Given the description of an element on the screen output the (x, y) to click on. 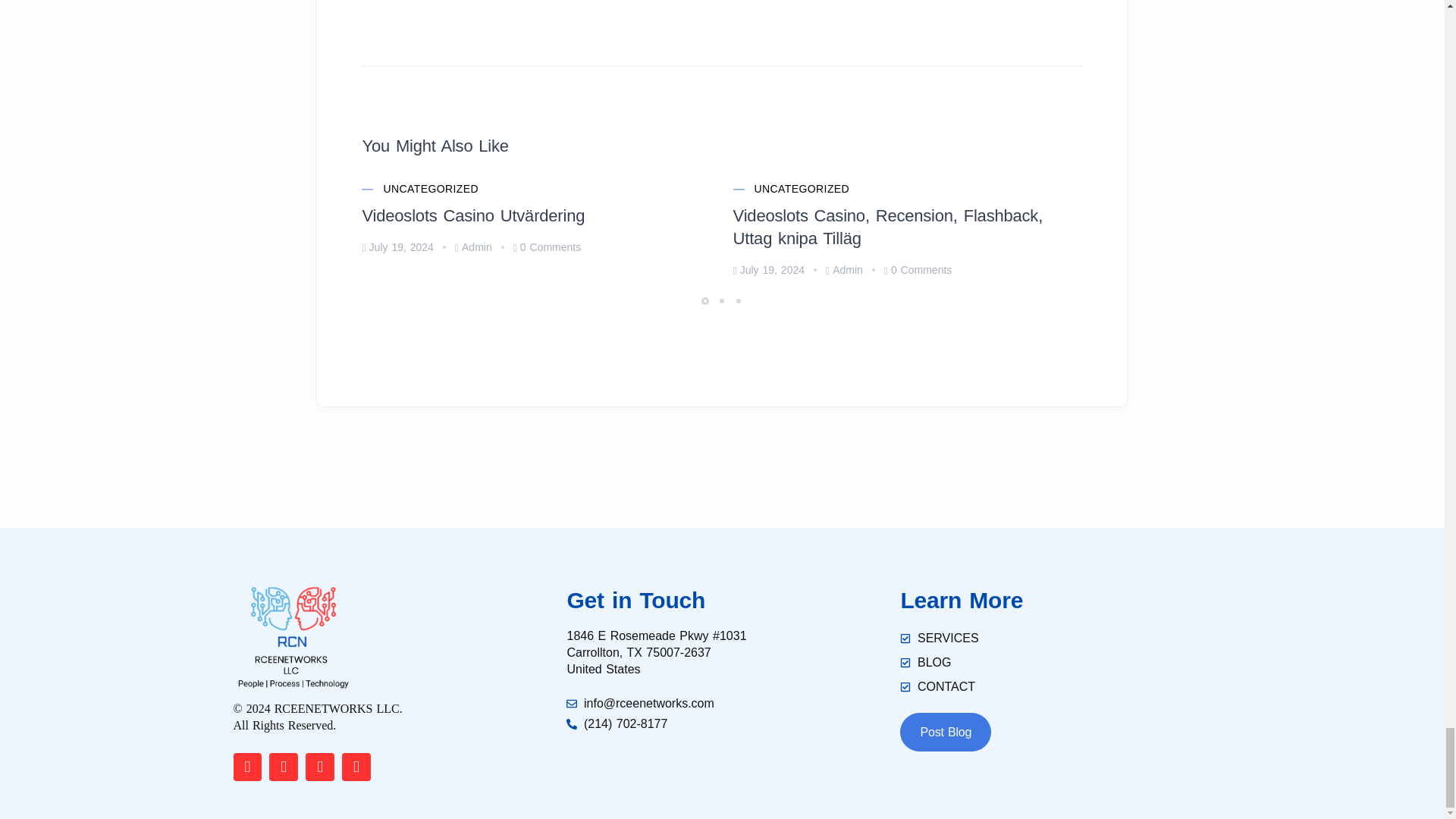
UNCATEGORIZED (802, 189)
Admin (844, 269)
July 19, 2024 (396, 246)
July 19, 2024 (769, 269)
UNCATEGORIZED (430, 189)
Admin (473, 246)
